Given the description of an element on the screen output the (x, y) to click on. 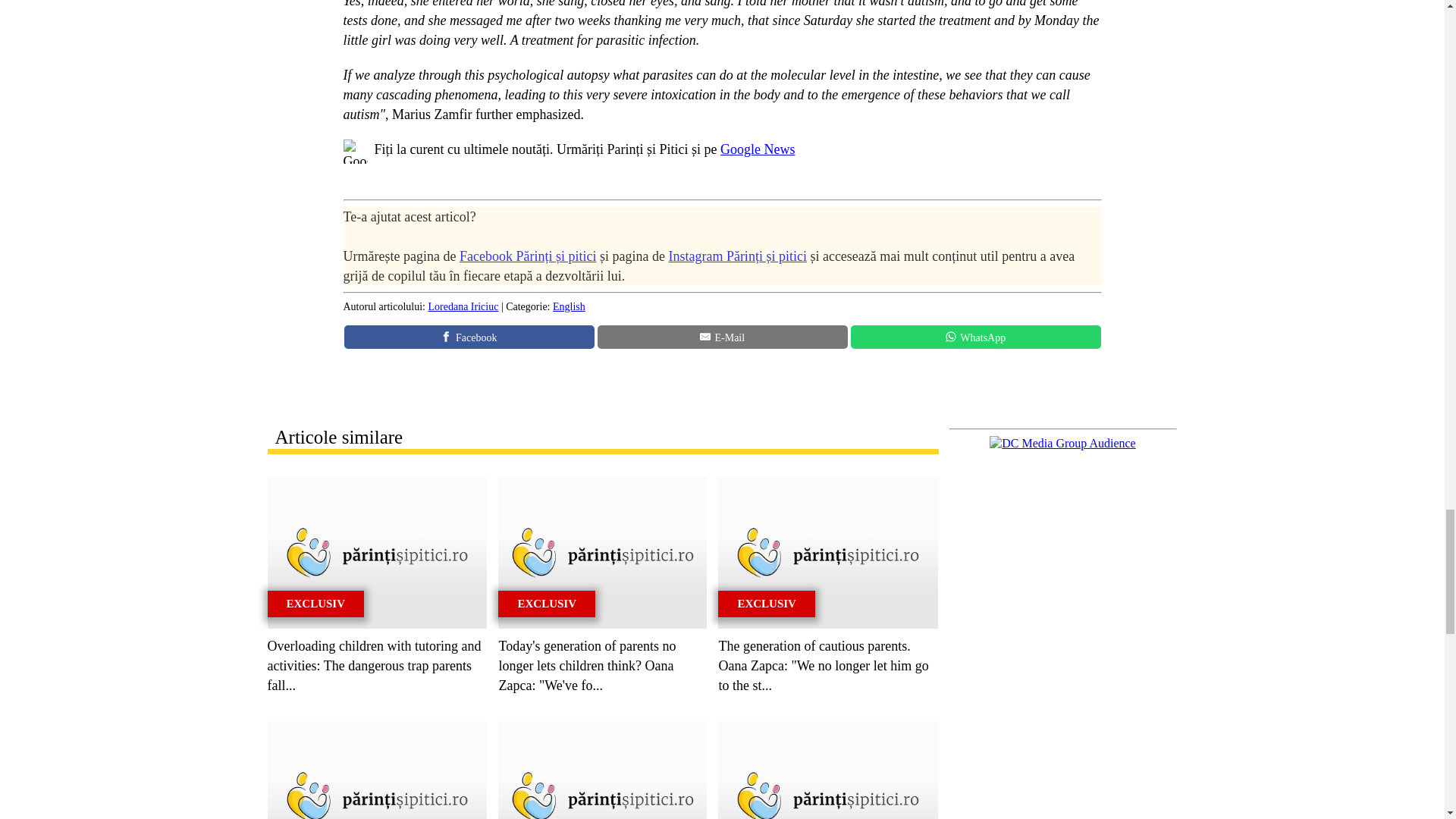
Google News (757, 149)
DC Media Group Audience (1062, 442)
DC Media Group Audience (1062, 442)
Parinti Si Pitici Google News (757, 149)
English (569, 306)
